Given the description of an element on the screen output the (x, y) to click on. 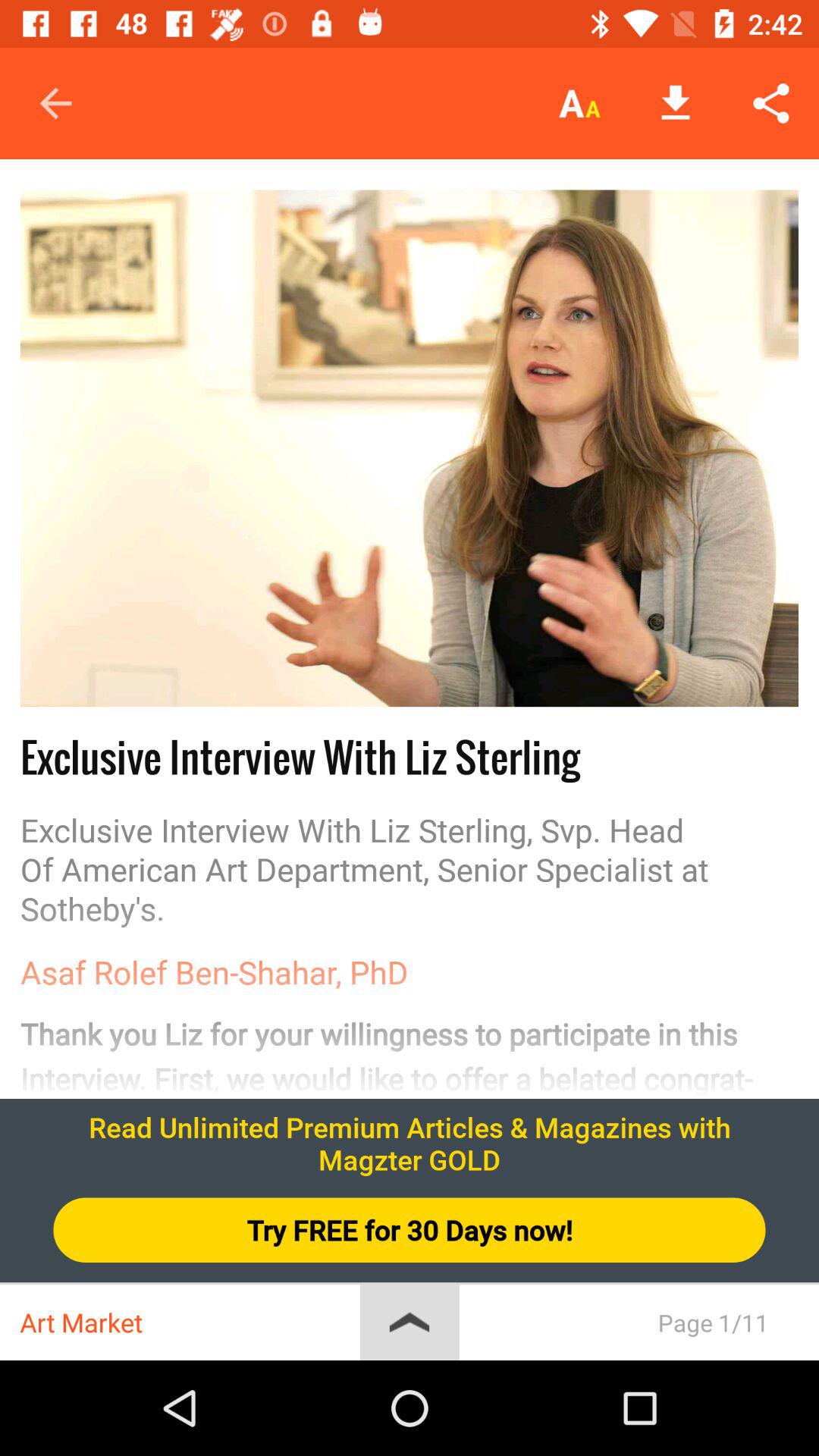
tap the icon at the top left corner (55, 103)
